Given the description of an element on the screen output the (x, y) to click on. 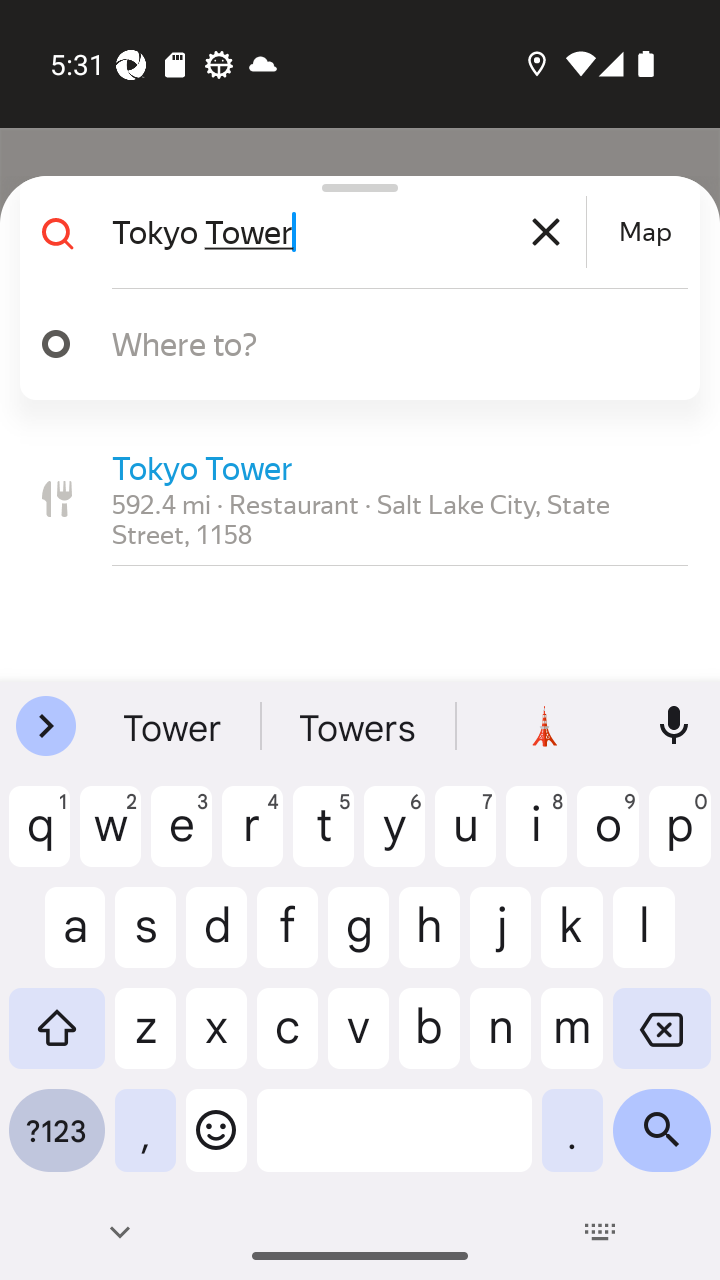
Tokyo Tower Clear text box Map Map (352, 232)
Map (645, 232)
Clear text box (546, 231)
Tokyo Tower (346, 232)
Where to? (352, 343)
Where to? (373, 343)
